Given the description of an element on the screen output the (x, y) to click on. 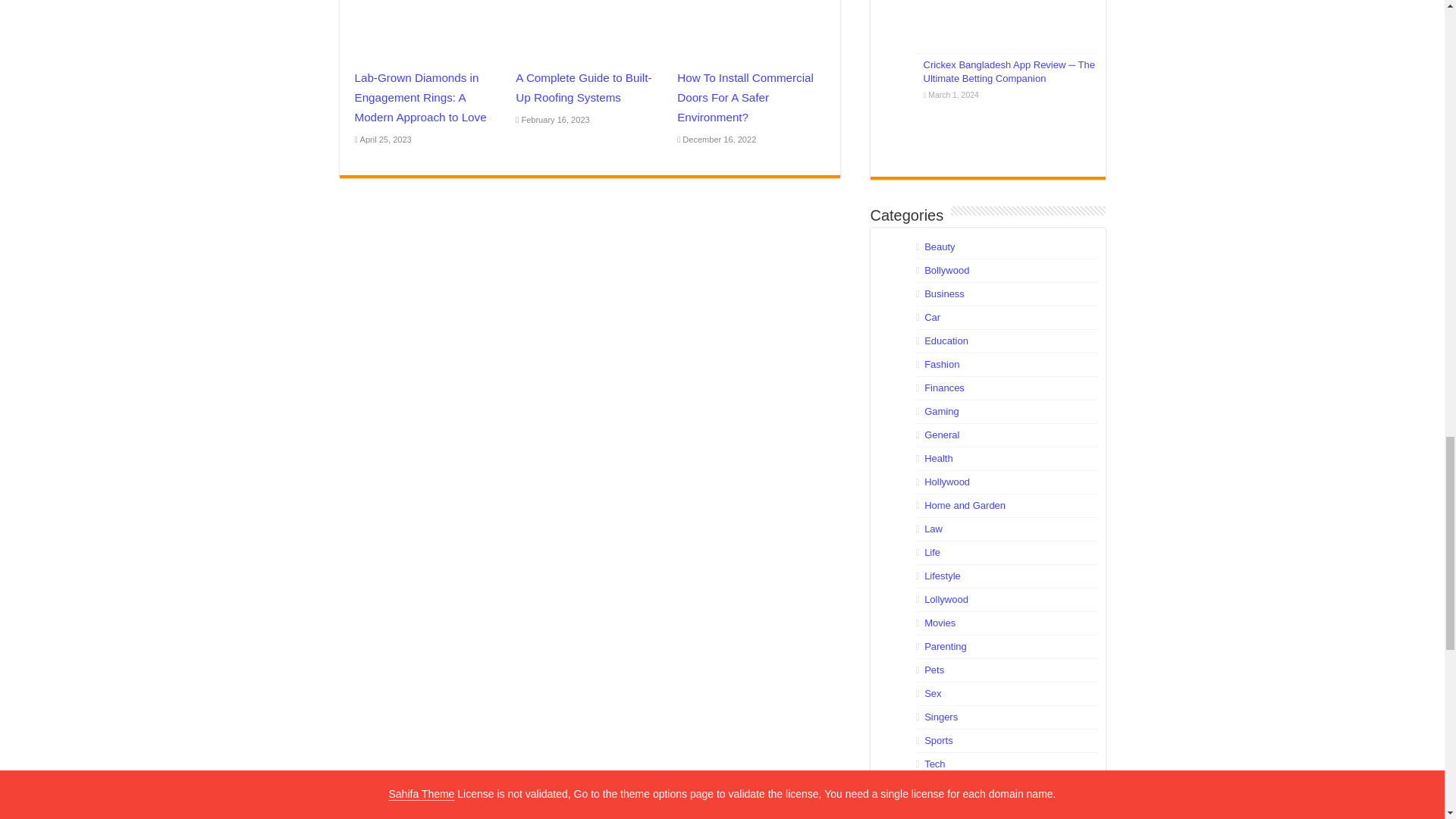
How To Install Commercial Doors For A Safer Environment? (745, 97)
A Complete Guide to Built-Up Roofing Systems (582, 87)
